Given the description of an element on the screen output the (x, y) to click on. 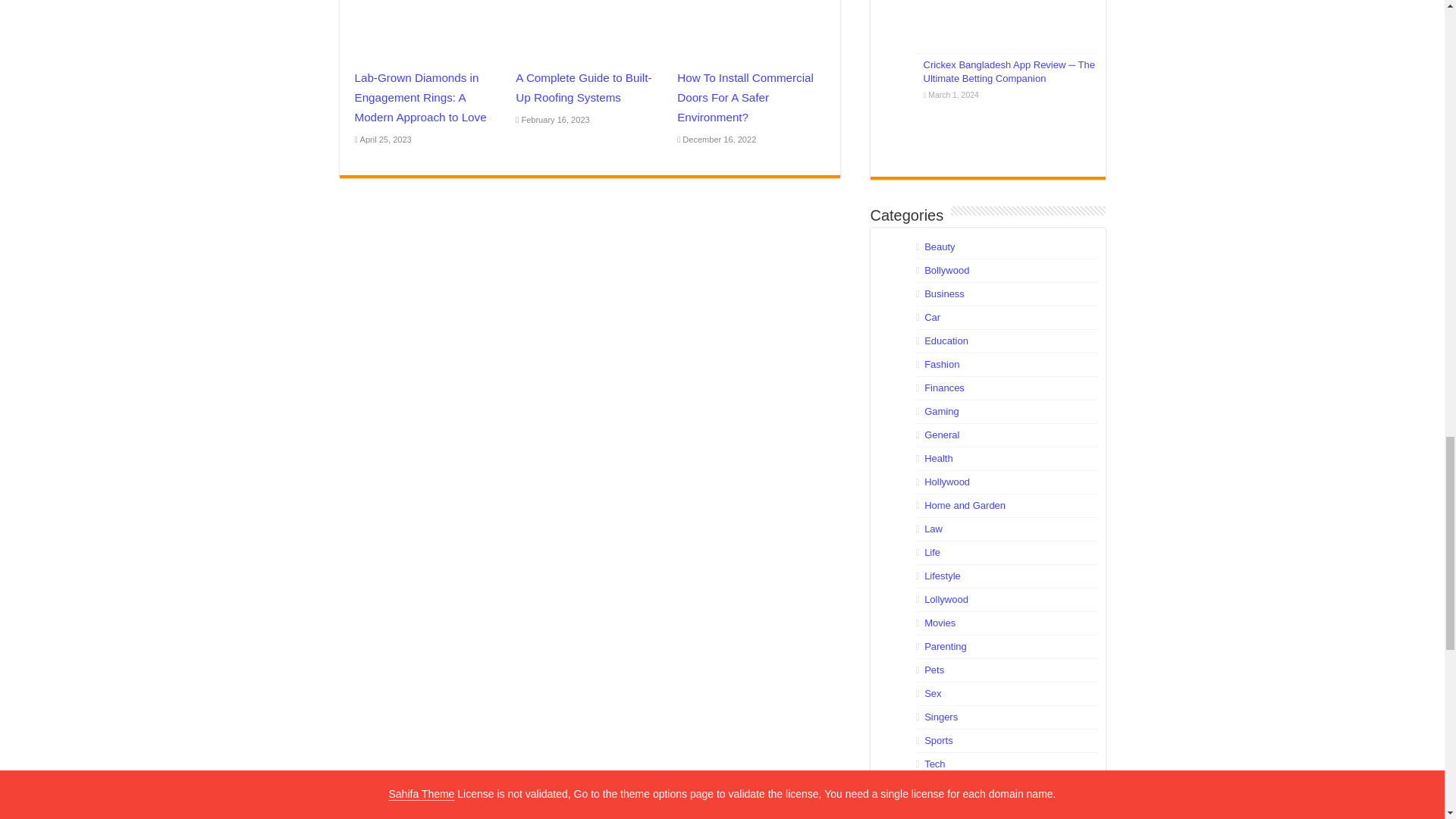
How To Install Commercial Doors For A Safer Environment? (745, 97)
A Complete Guide to Built-Up Roofing Systems (582, 87)
